Given the description of an element on the screen output the (x, y) to click on. 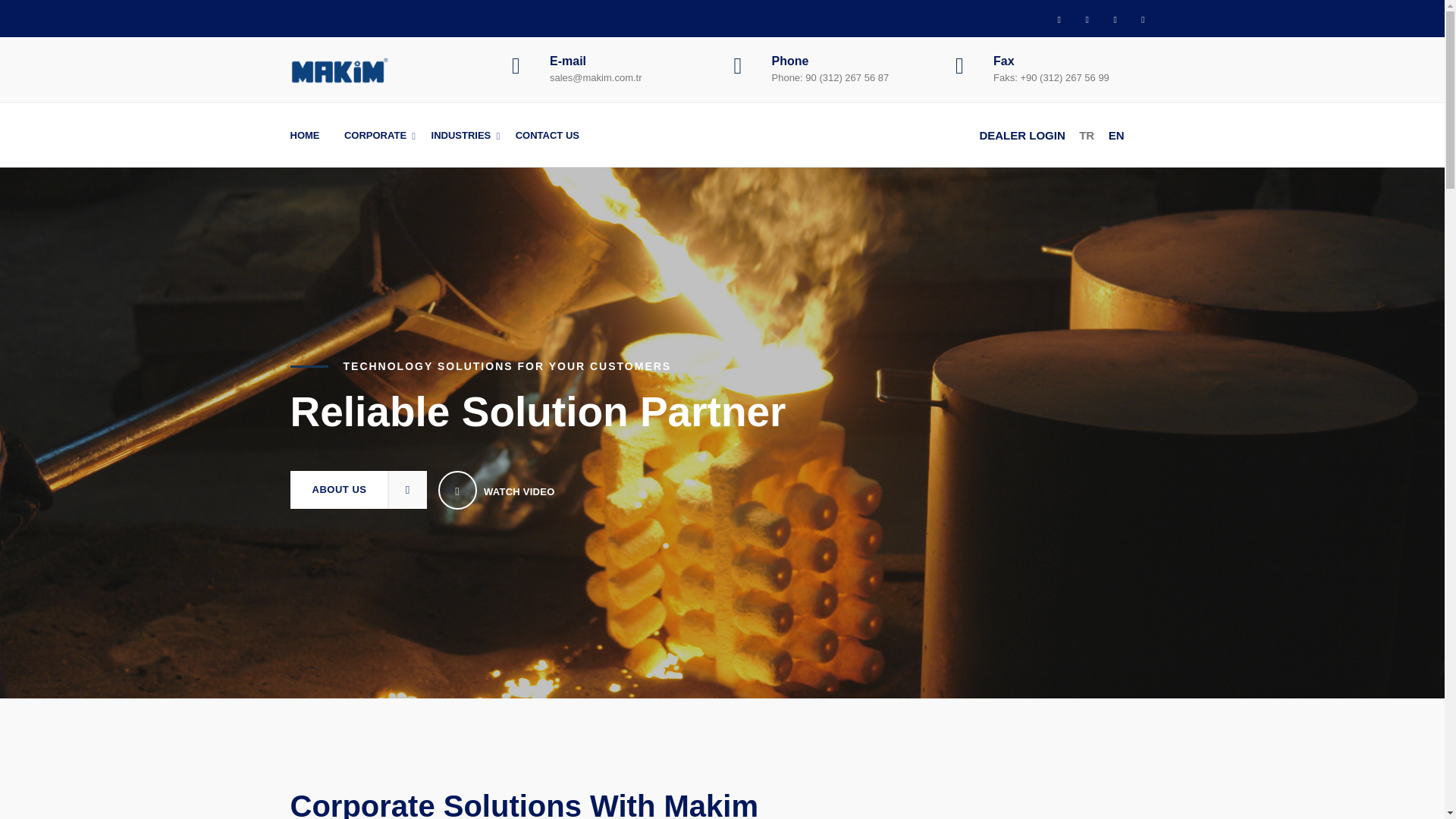
DEALER LOGIN (1021, 135)
CORPORATE (374, 135)
CONTACT US (547, 135)
INDUSTRIES (461, 135)
